Given the description of an element on the screen output the (x, y) to click on. 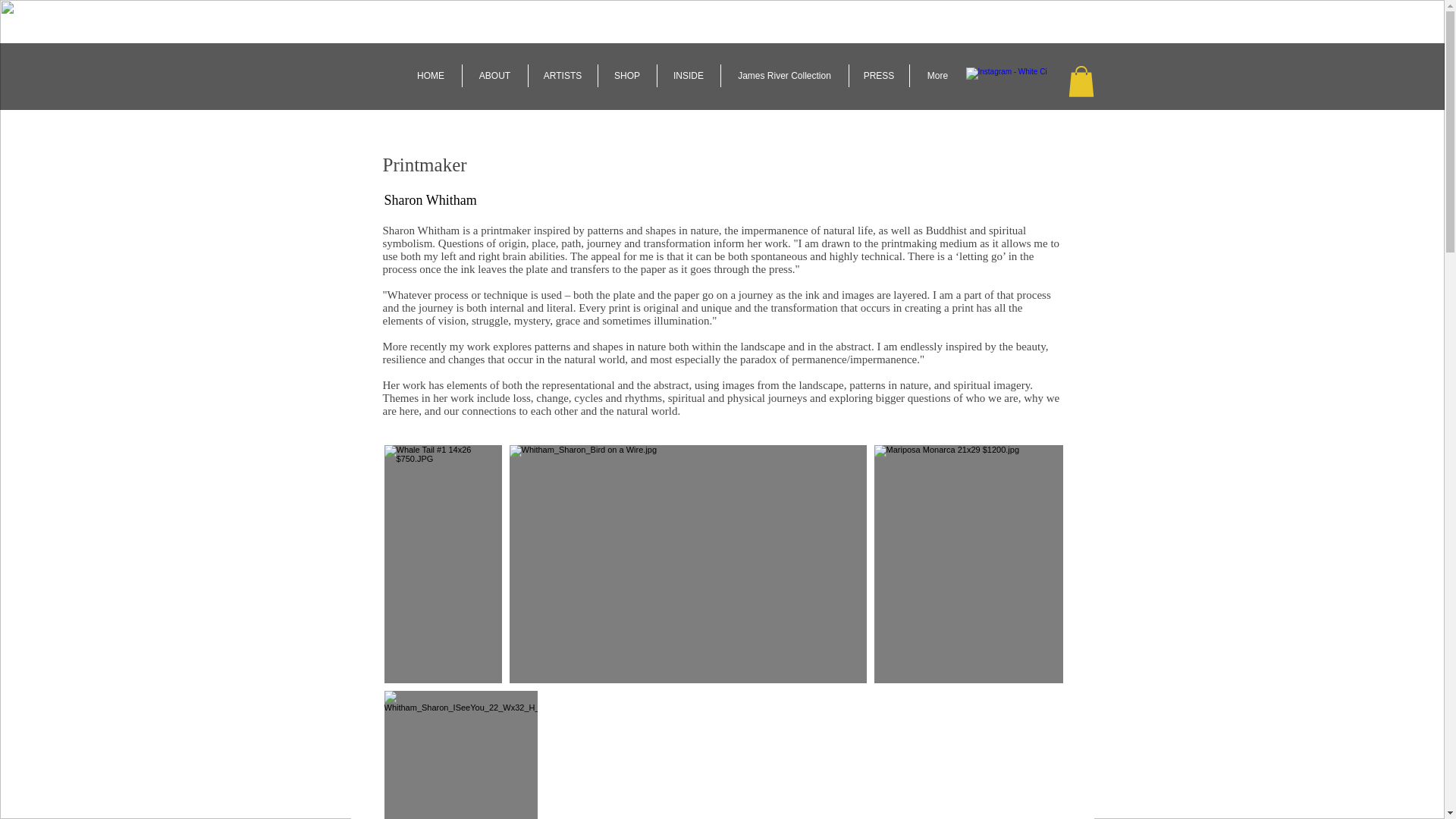
ABOUT (495, 75)
SHOP (626, 75)
HOME (430, 75)
James River Collection (783, 75)
PRESS (878, 75)
INSIDE (687, 75)
